Given the description of an element on the screen output the (x, y) to click on. 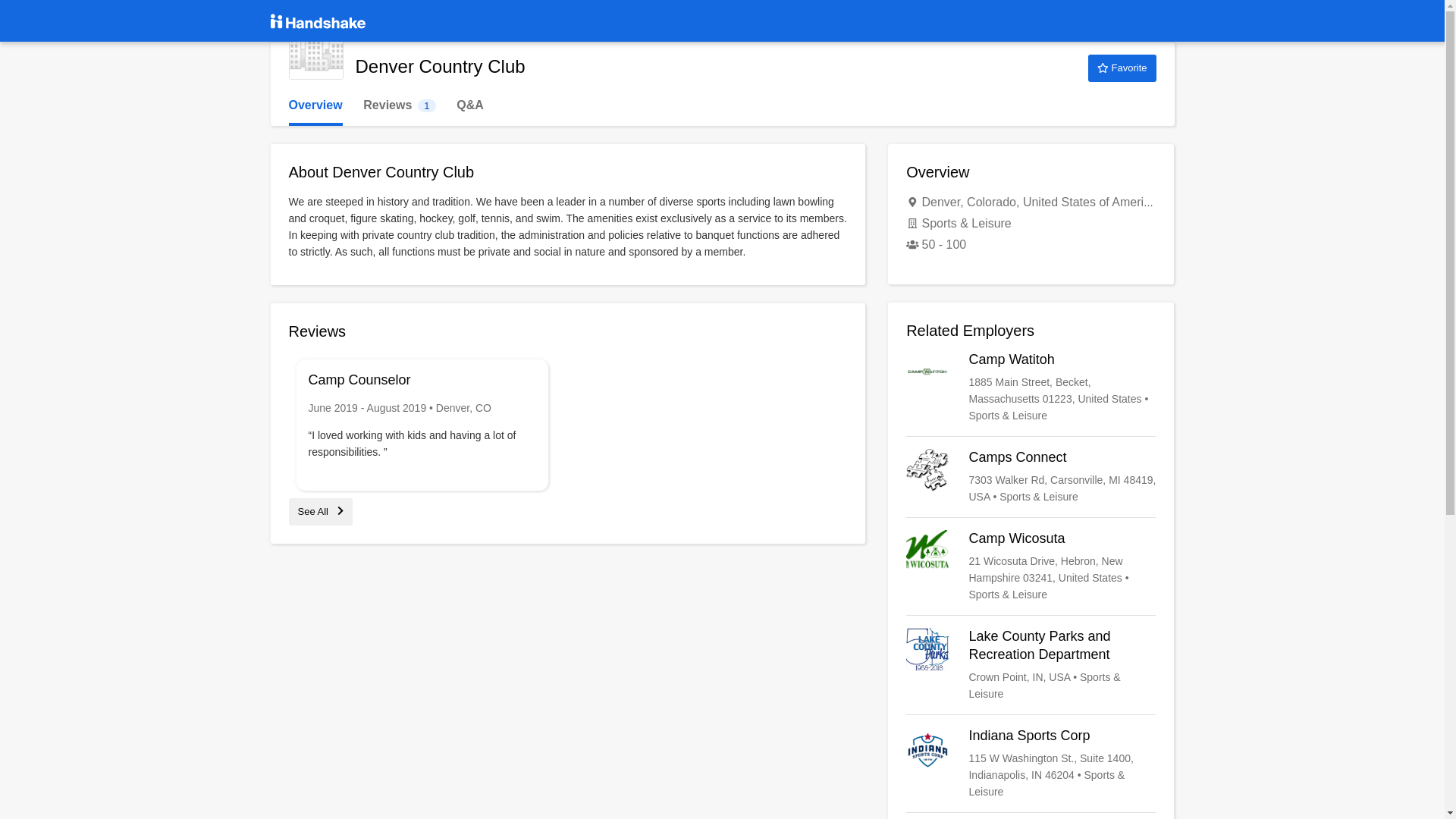
Camp Watitoh (1030, 387)
Lake County Parks and Recreation Department (1030, 664)
Indiana Sports Corp (398, 105)
Camp Wicosuta (1030, 763)
See All (1030, 565)
Denver Country Club (320, 511)
Camps Connect (315, 52)
Overview (1030, 476)
Favorite (315, 105)
